Given the description of an element on the screen output the (x, y) to click on. 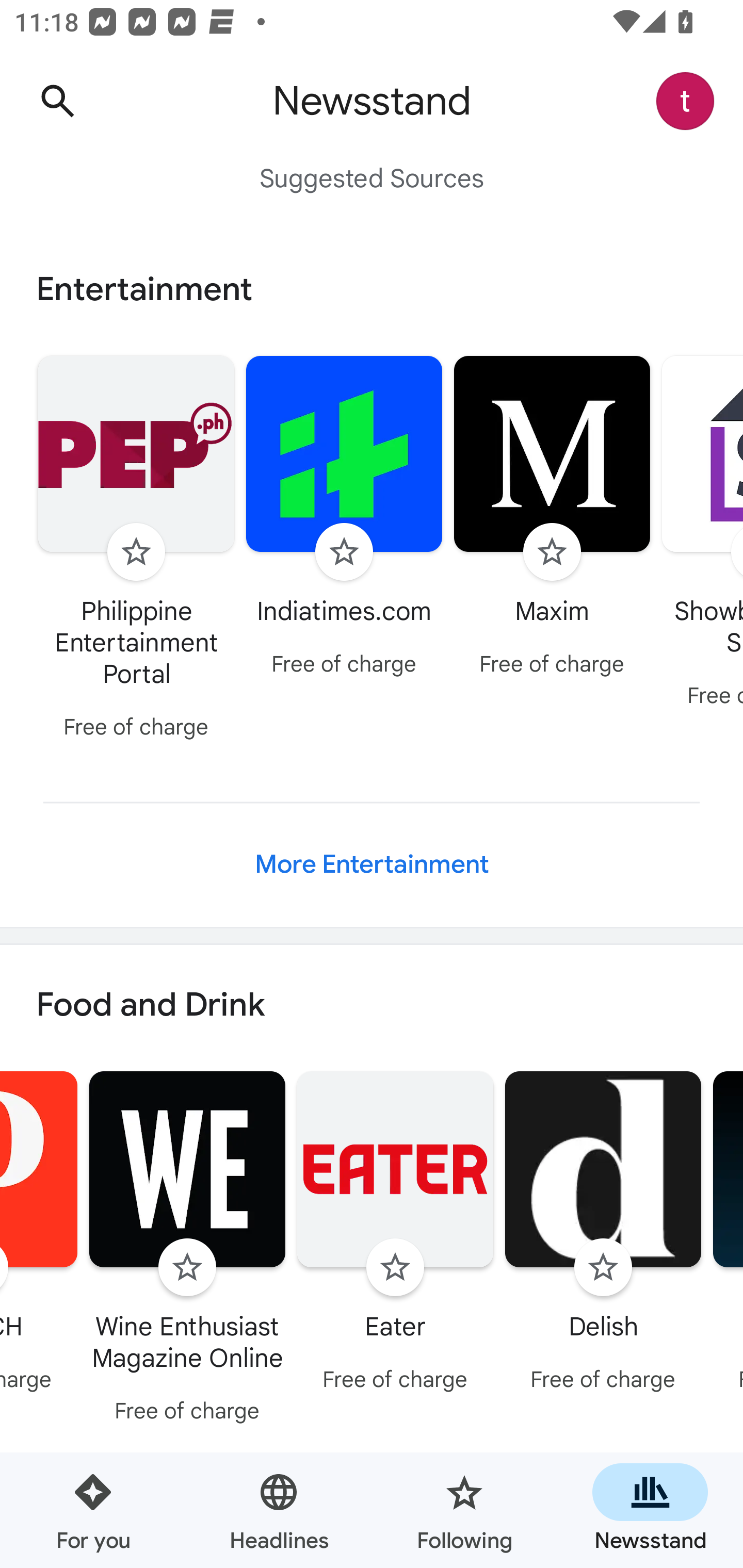
Search (57, 100)
Entertainment (371, 288)
Follow Indiatimes.com Free of charge (344, 517)
Follow Maxim Free of charge (552, 517)
Follow (135, 551)
Follow (343, 551)
Follow (552, 551)
More Entertainment (371, 864)
Food and Drink (371, 1005)
Follow Eater Free of charge (395, 1234)
Follow Delish Free of charge (603, 1234)
Follow (187, 1267)
Follow (395, 1267)
Follow (603, 1267)
For you (92, 1509)
Headlines (278, 1509)
Following (464, 1509)
Newsstand (650, 1509)
